Given the description of an element on the screen output the (x, y) to click on. 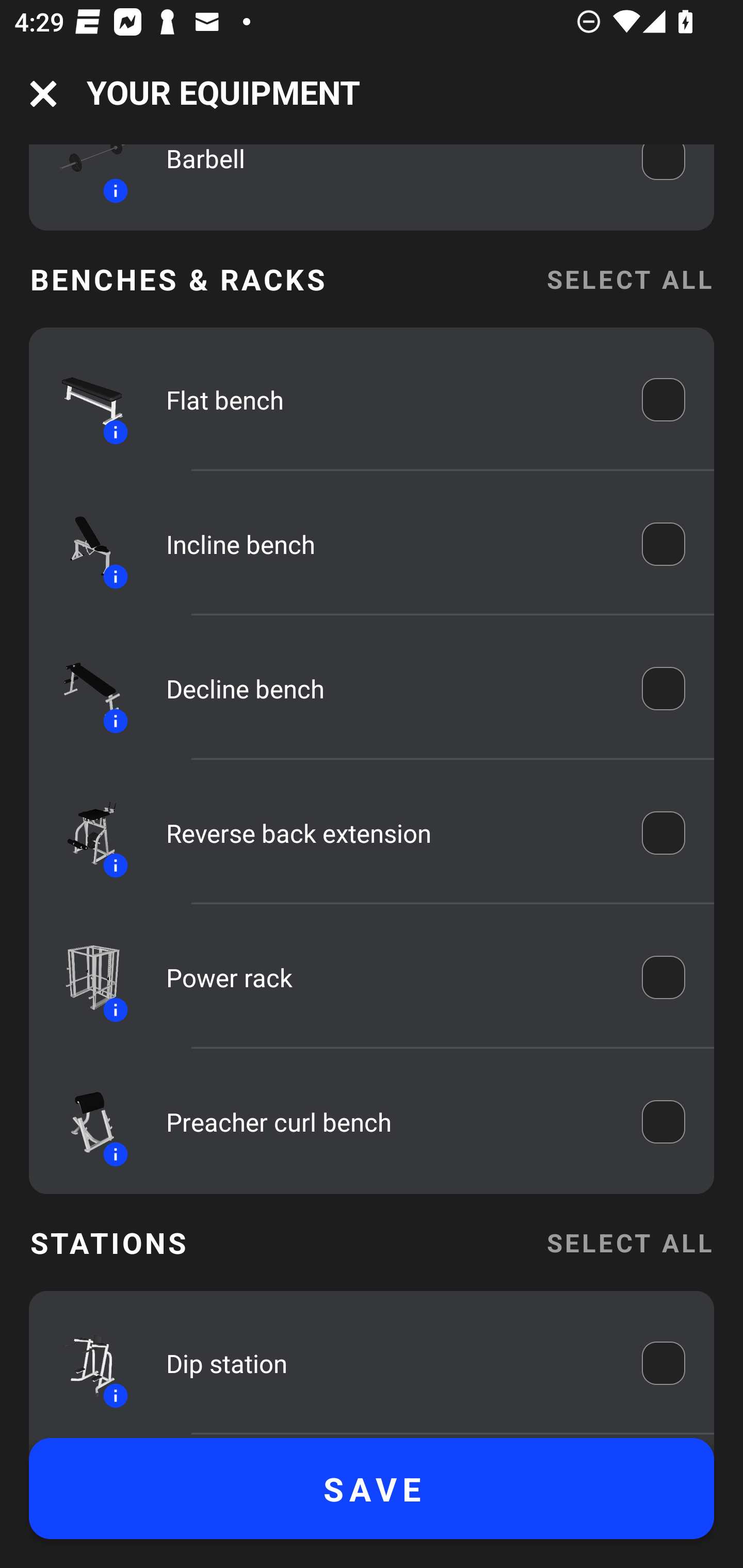
Navigation icon (43, 93)
Equipment icon Information icon (82, 178)
Barbell (389, 173)
SELECT ALL (629, 279)
Equipment icon Information icon (82, 398)
Flat bench (389, 399)
Equipment icon Information icon (82, 543)
Incline bench (389, 544)
Equipment icon Information icon (82, 689)
Decline bench (389, 689)
Equipment icon Information icon (82, 833)
Reverse back extension (389, 833)
Equipment icon Information icon (82, 977)
Power rack (389, 977)
Equipment icon Information icon (82, 1121)
Preacher curl bench (389, 1121)
SELECT ALL (629, 1242)
Equipment icon Information icon (82, 1363)
Dip station (389, 1363)
SAVE (371, 1488)
